Given the description of an element on the screen output the (x, y) to click on. 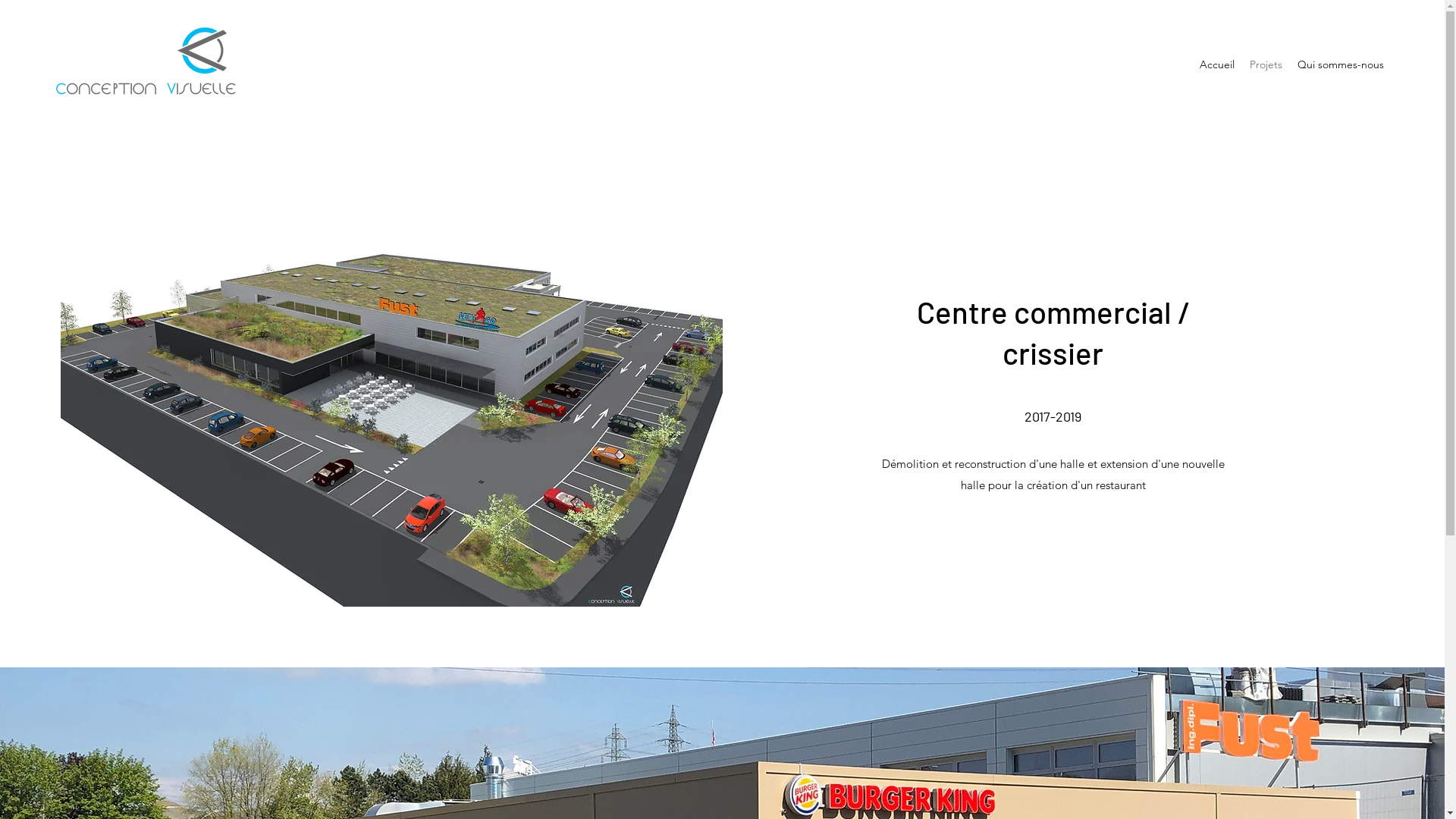
Qui sommes-nous Element type: text (1340, 64)
Projets Element type: text (1265, 64)
Accueil Element type: text (1217, 64)
